Given the description of an element on the screen output the (x, y) to click on. 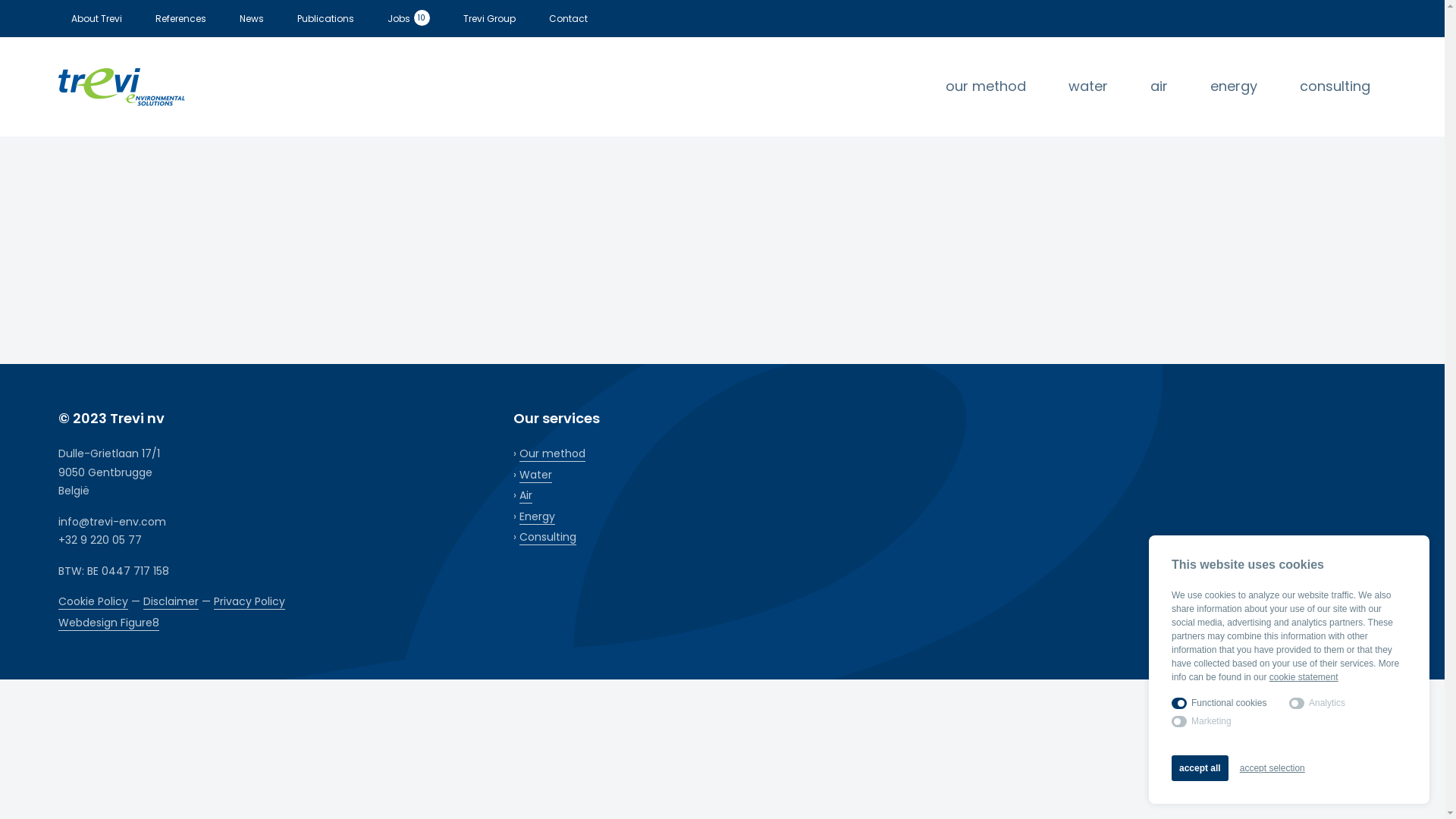
energy Element type: text (1233, 87)
our method Element type: text (985, 87)
References Element type: text (180, 17)
air Element type: text (1158, 87)
Contact Element type: text (568, 17)
water Element type: text (1087, 87)
accept all Element type: text (1199, 768)
Webdesign Figure8 Element type: text (108, 622)
consulting Element type: text (1334, 87)
Air Element type: text (525, 495)
Publications Element type: text (325, 17)
Energy Element type: text (537, 516)
About Trevi Element type: text (96, 17)
Cookie Policy Element type: text (93, 601)
Trevi Group Element type: text (489, 17)
cookie statement Element type: text (1303, 676)
Water Element type: text (535, 475)
Our method Element type: text (552, 453)
Consulting Element type: text (547, 537)
Jobs 10 Element type: text (408, 18)
accept selection Element type: text (1272, 768)
Privacy Policy Element type: text (249, 601)
Disclaimer Element type: text (170, 601)
News Element type: text (251, 17)
